Given the description of an element on the screen output the (x, y) to click on. 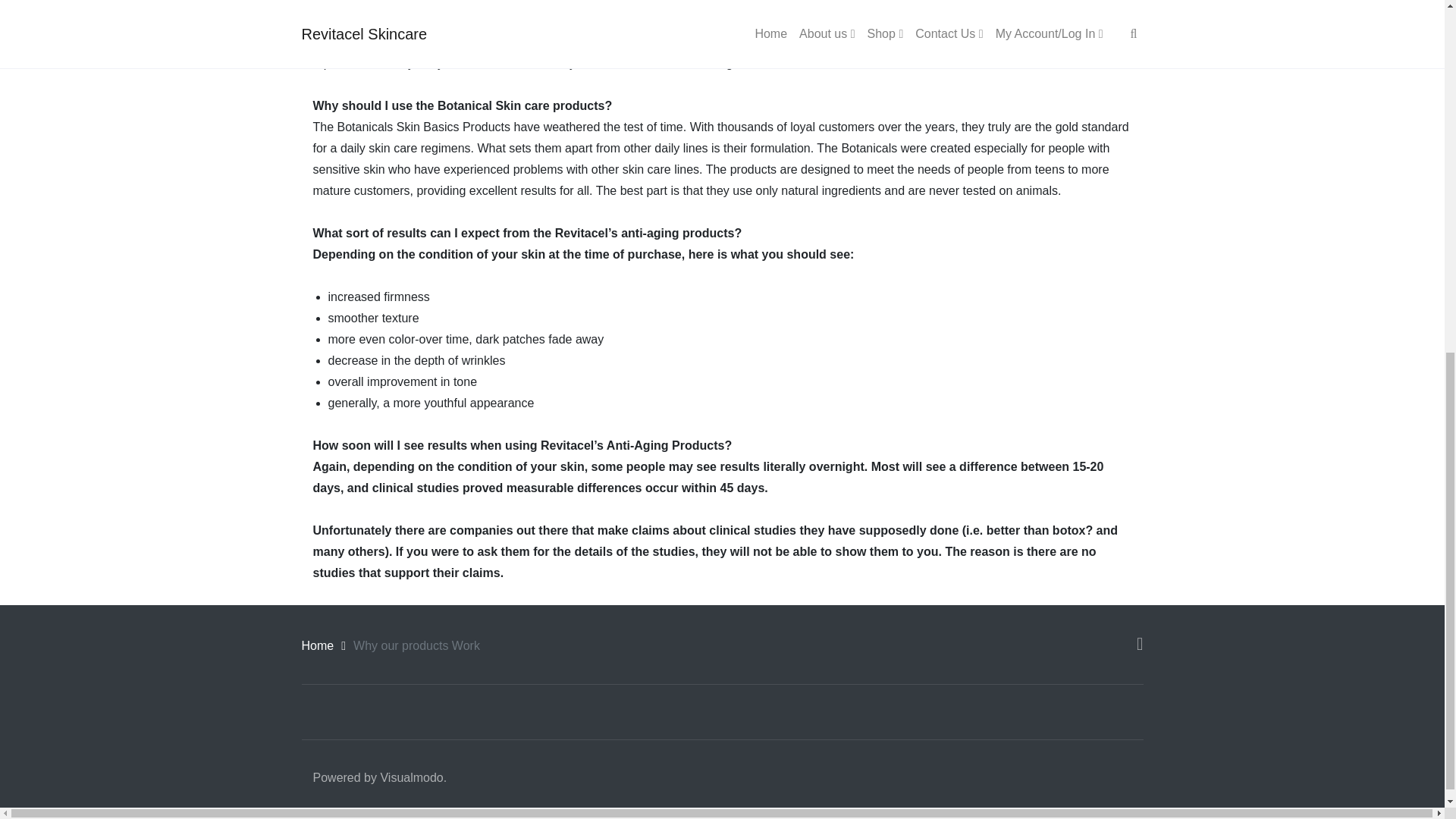
Home (317, 645)
